Given the description of an element on the screen output the (x, y) to click on. 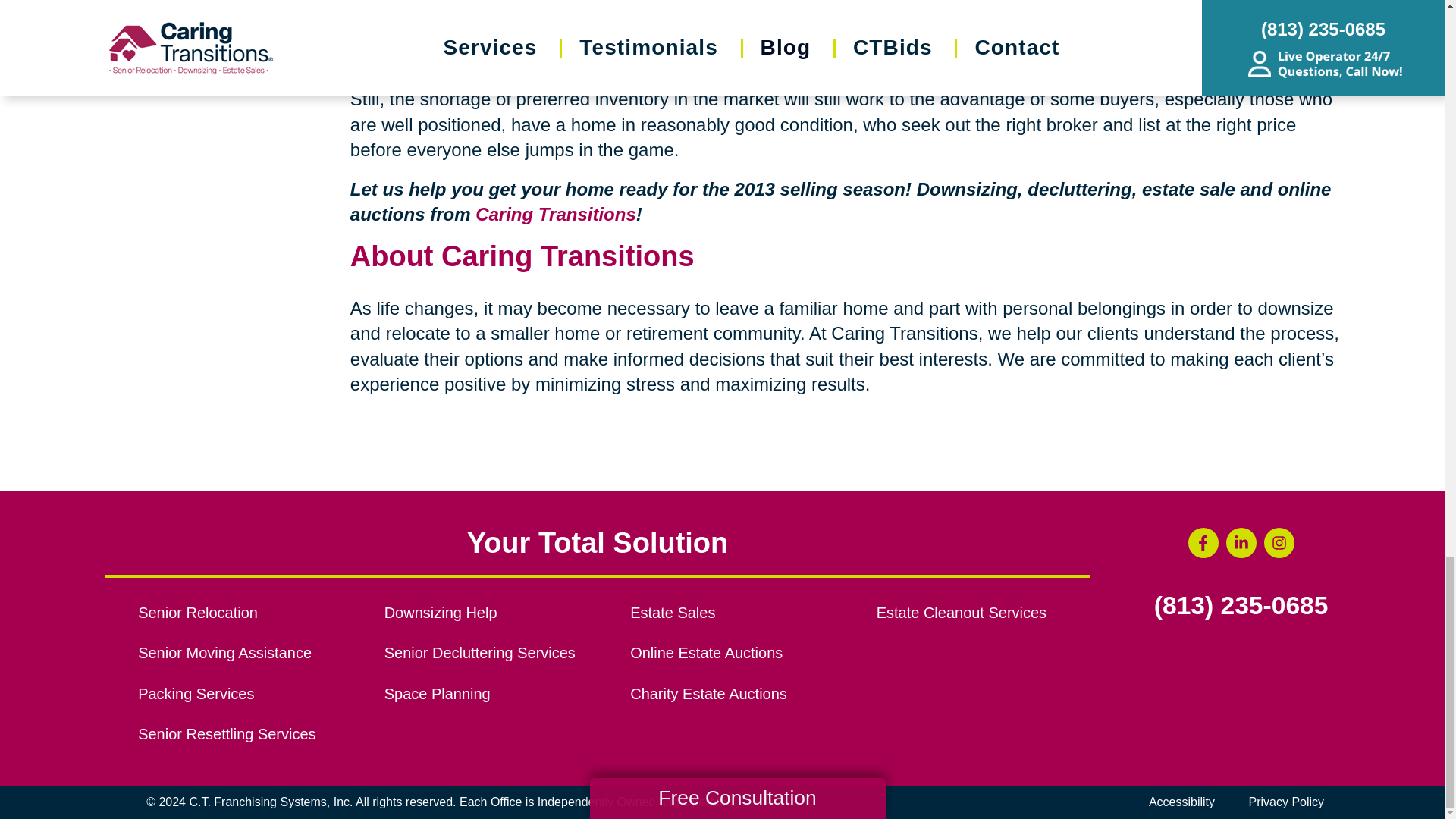
Facebook (1203, 542)
Caring Transitions (556, 213)
Instagram (1278, 542)
LinkedIn (1240, 542)
